Given the description of an element on the screen output the (x, y) to click on. 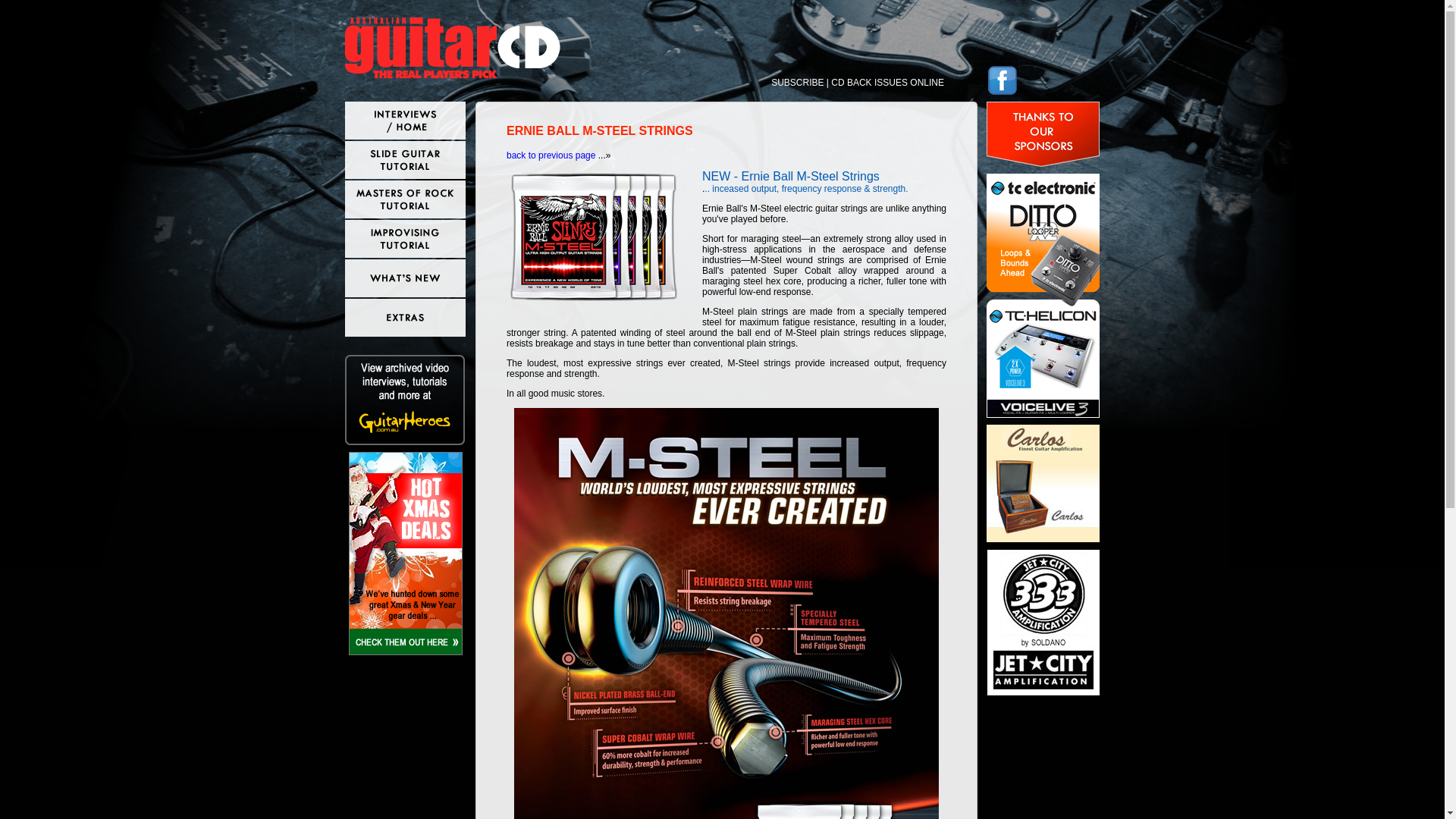
Hot Xmas & New Year Deals - Check them out! Element type: hover (405, 553)
Visit Carlos Website Element type: hover (1043, 483)
SUBSCRIBE Element type: text (797, 82)
back to previous page Element type: text (550, 155)
Visit Faith Guitars Website Element type: hover (1042, 295)
Visit Jet City Website Element type: hover (1043, 622)
Back to Entry Page Element type: hover (453, 47)
Hot Xmas & New Year Deals - Check them out! Element type: hover (405, 651)
Visit / Like  us on Facebook Element type: hover (1002, 79)
CD BACK ISSUES ONLINE Element type: text (887, 82)
